Given the description of an element on the screen output the (x, y) to click on. 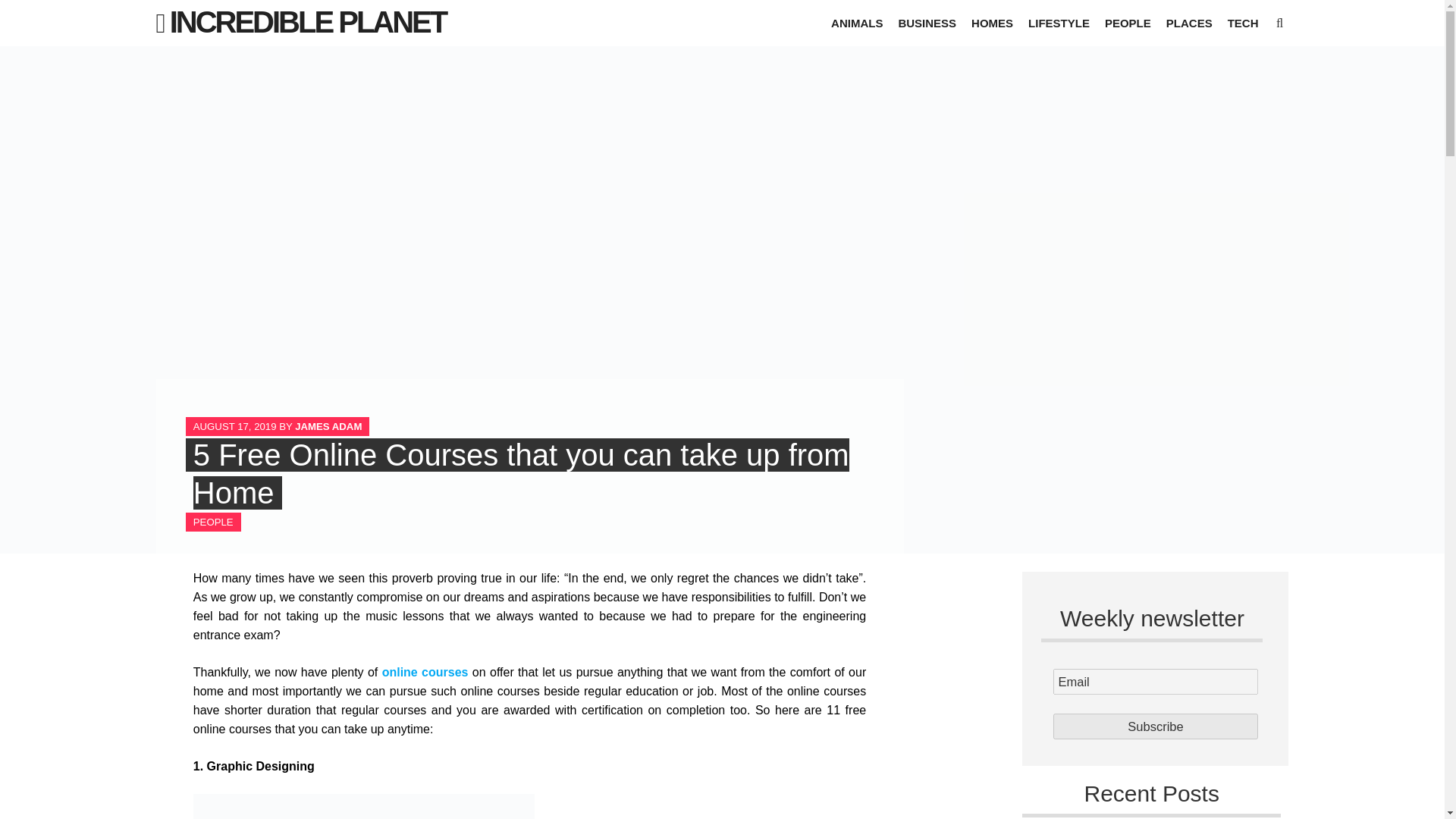
PEOPLE (212, 521)
TECH (1243, 22)
Email (1155, 681)
BUSINESS (927, 22)
AUGUST 17, 2019 (234, 426)
Subscribe (1155, 726)
PEOPLE (1128, 22)
Search (25, 11)
online courses (424, 671)
JAMES ADAM (328, 426)
